Given the description of an element on the screen output the (x, y) to click on. 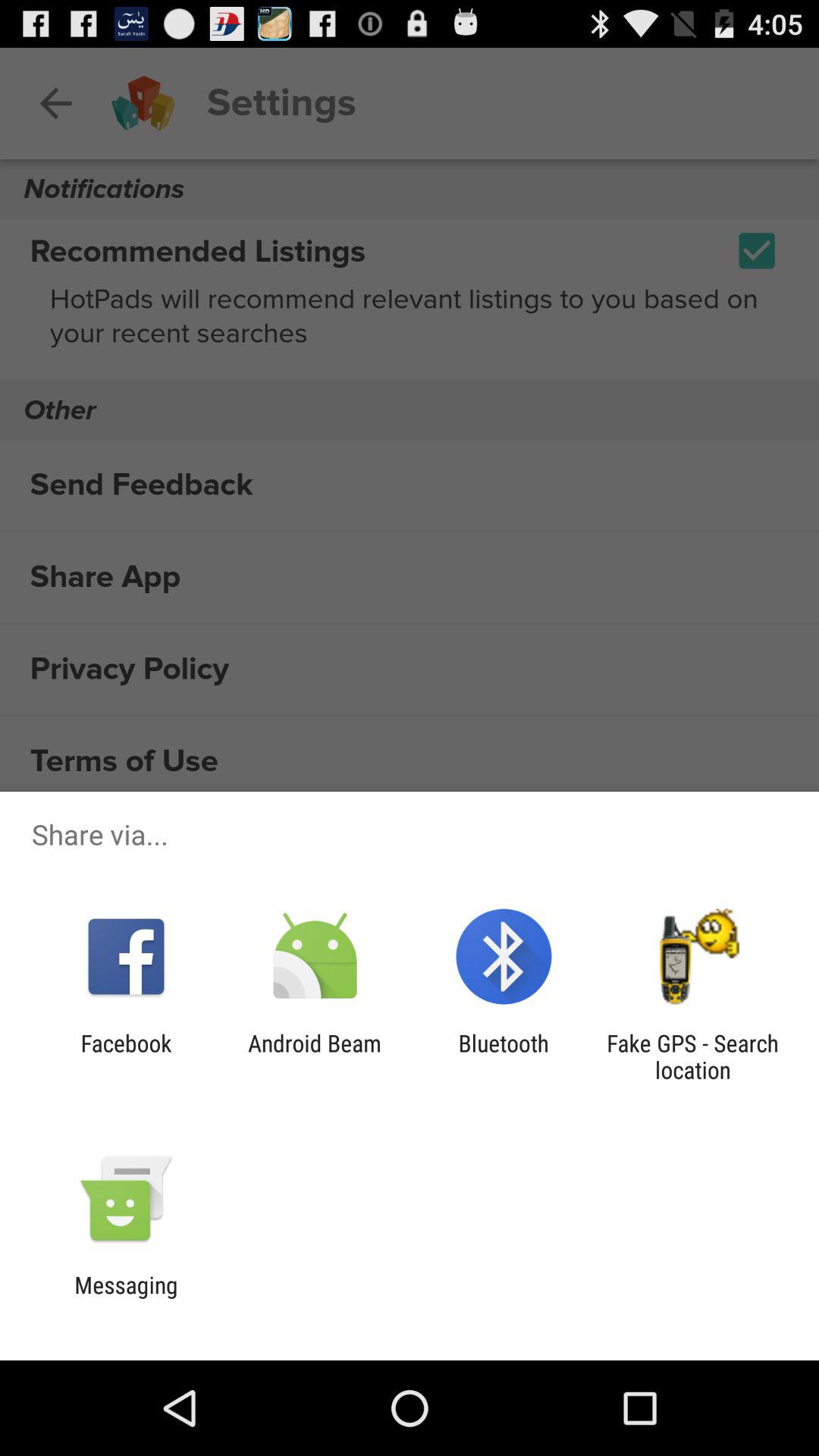
flip to bluetooth icon (503, 1056)
